Given the description of an element on the screen output the (x, y) to click on. 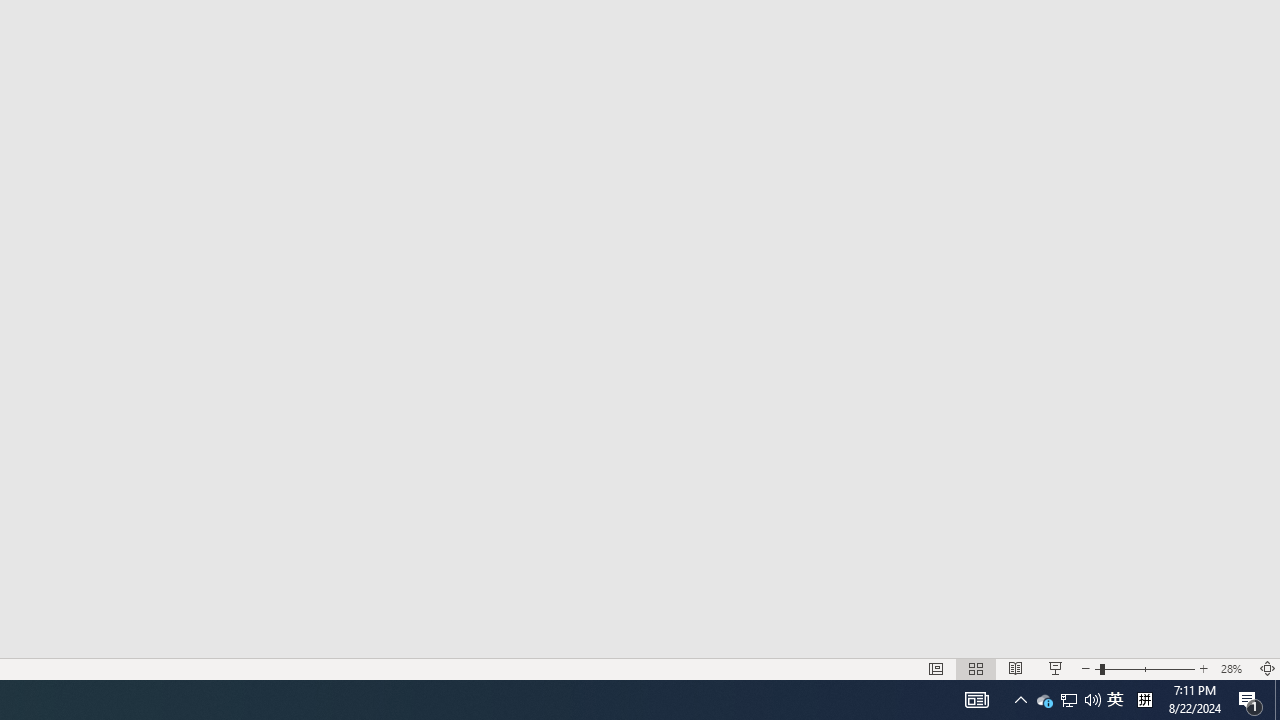
Zoom 28% (1234, 668)
